Given the description of an element on the screen output the (x, y) to click on. 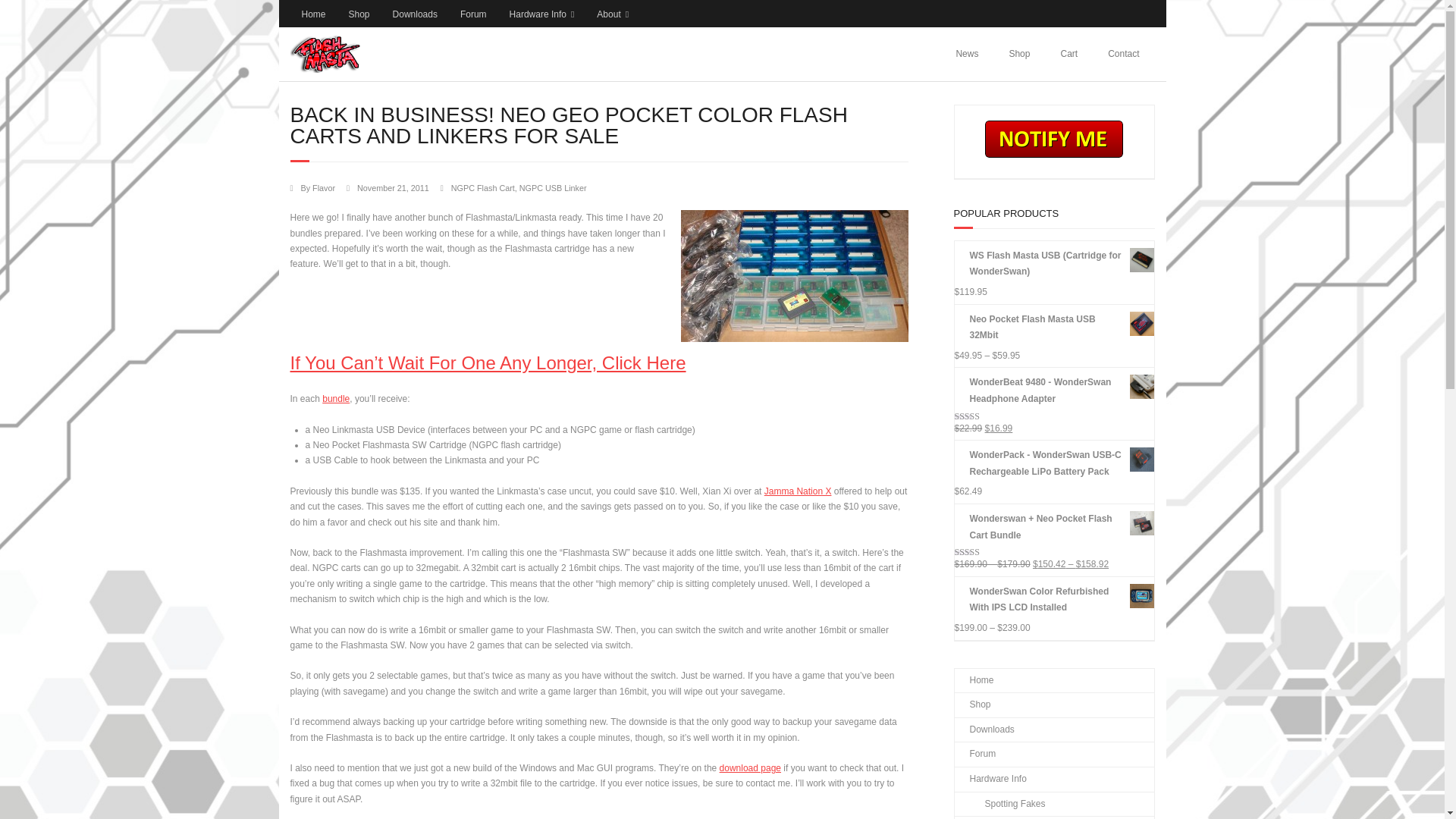
Home (312, 13)
News (966, 53)
Shop (359, 13)
download page (749, 767)
Flavor (323, 187)
View all posts by Flavor (323, 187)
NGPC USB Linker (552, 187)
November 21, 2011 (392, 187)
Jamma Nation X (797, 491)
About (612, 13)
Downloads (414, 13)
Shop (1018, 53)
bundle (335, 398)
Forum (472, 13)
